Given the description of an element on the screen output the (x, y) to click on. 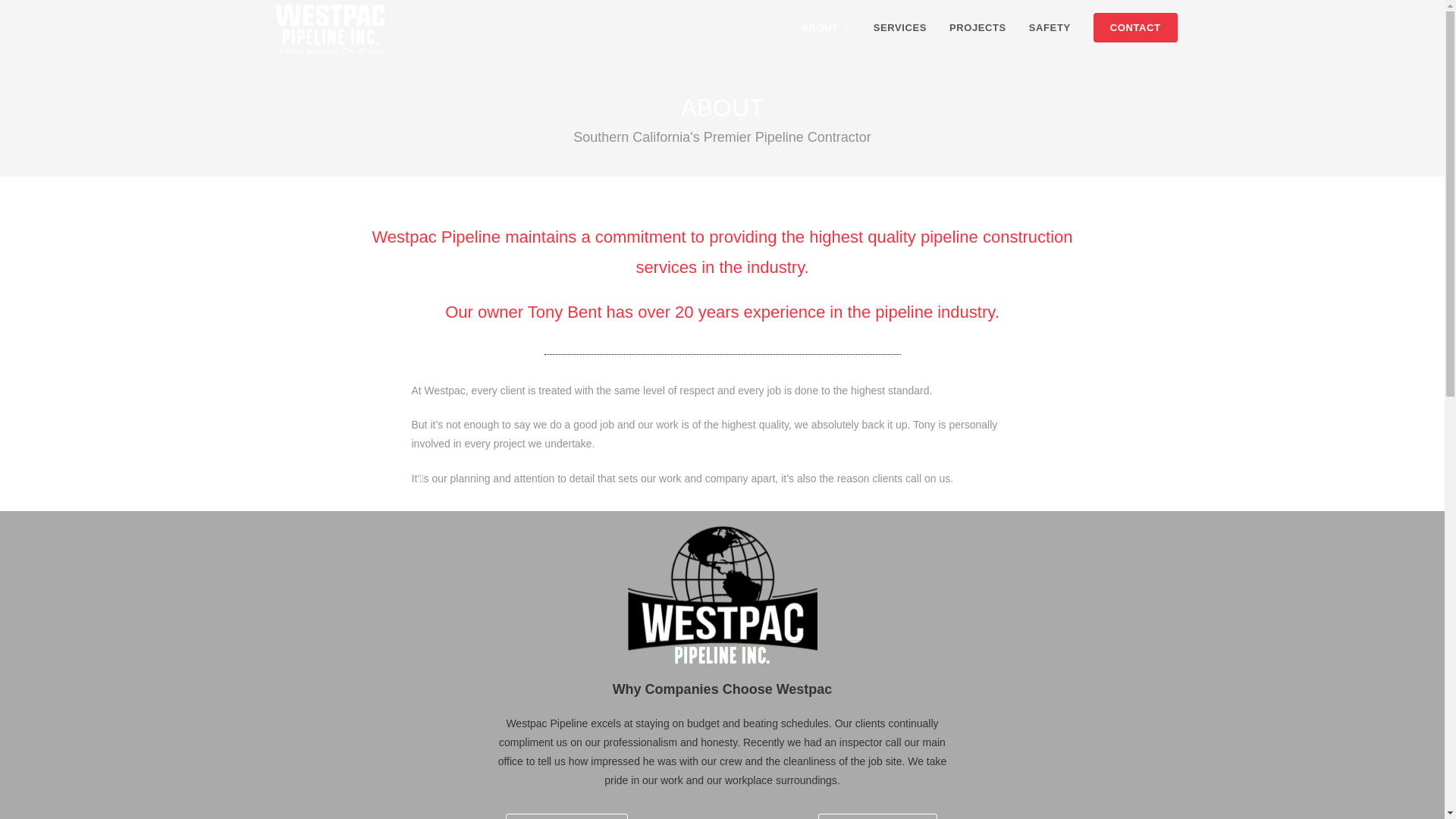
SAFETY (1049, 28)
CONTACT (1135, 28)
Review Projects (877, 816)
PROJECTS (977, 28)
SERVICES (899, 28)
Review Services (566, 816)
ABOUT (825, 28)
